Given the description of an element on the screen output the (x, y) to click on. 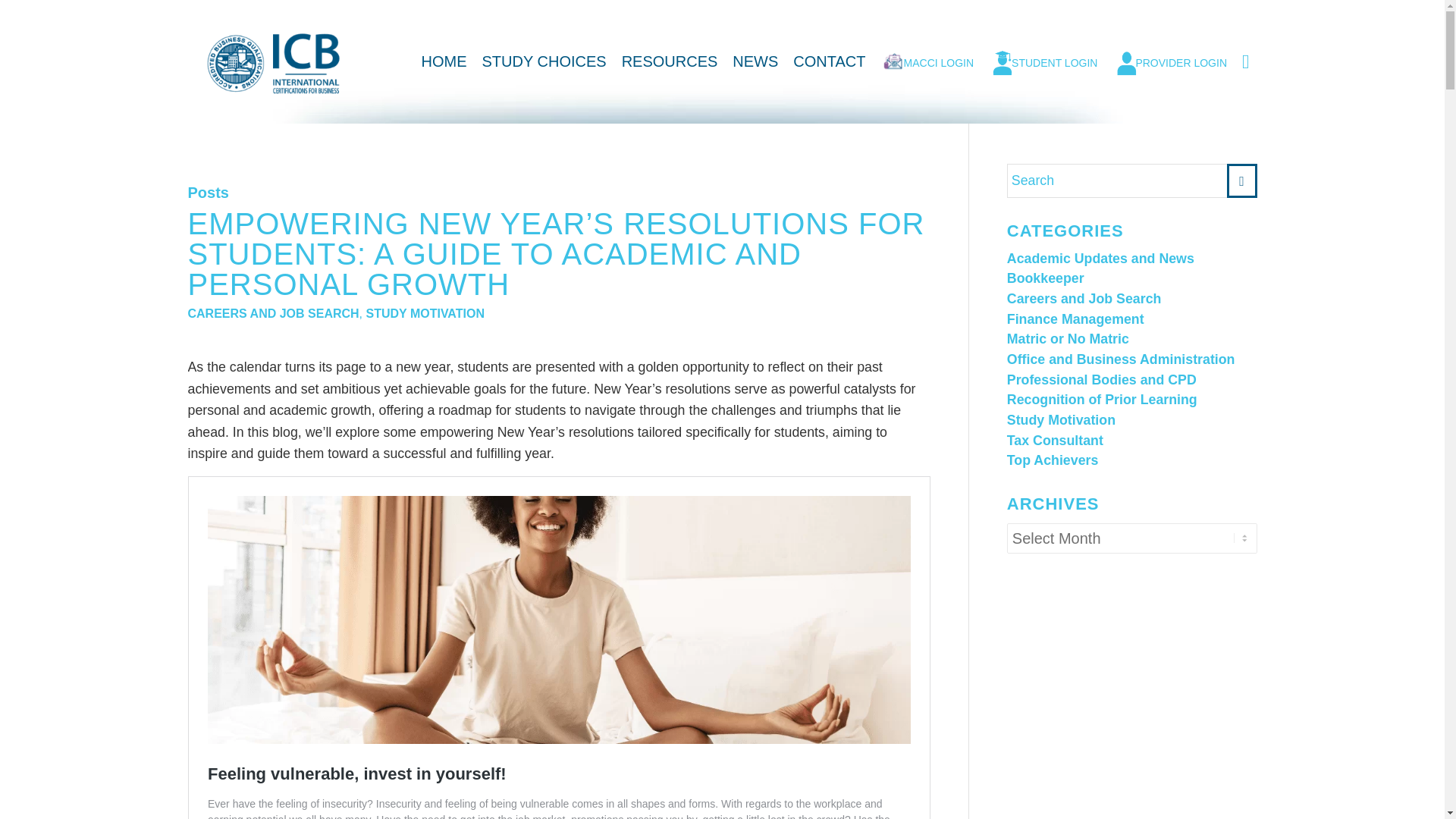
STUDY MOTIVATION (424, 313)
3 (276, 63)
CAREERS AND JOB SEARCH (273, 313)
RESOURCES (669, 61)
STUDY CHOICES (544, 61)
STUDENT LOGIN (1043, 61)
PROVIDER LOGIN (1169, 61)
